Given the description of an element on the screen output the (x, y) to click on. 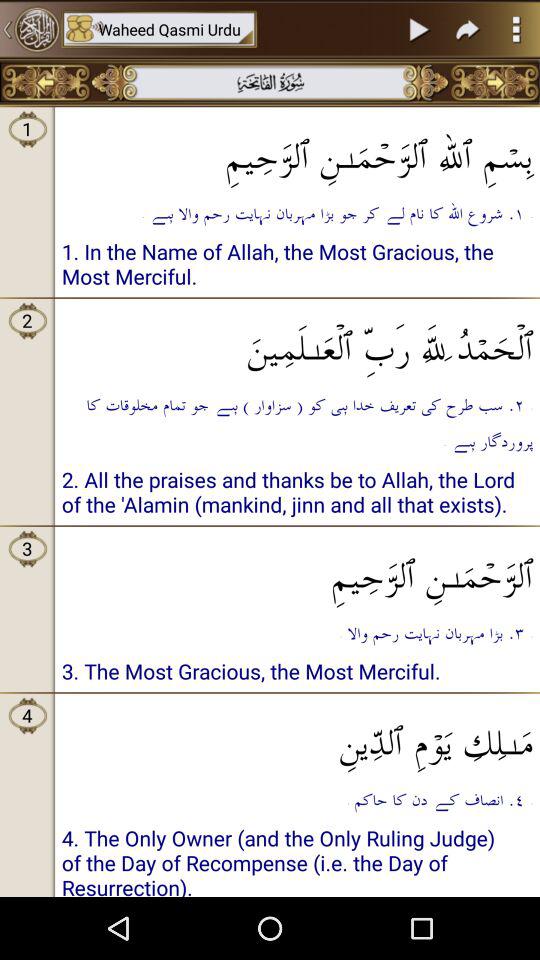
go back (45, 82)
